Given the description of an element on the screen output the (x, y) to click on. 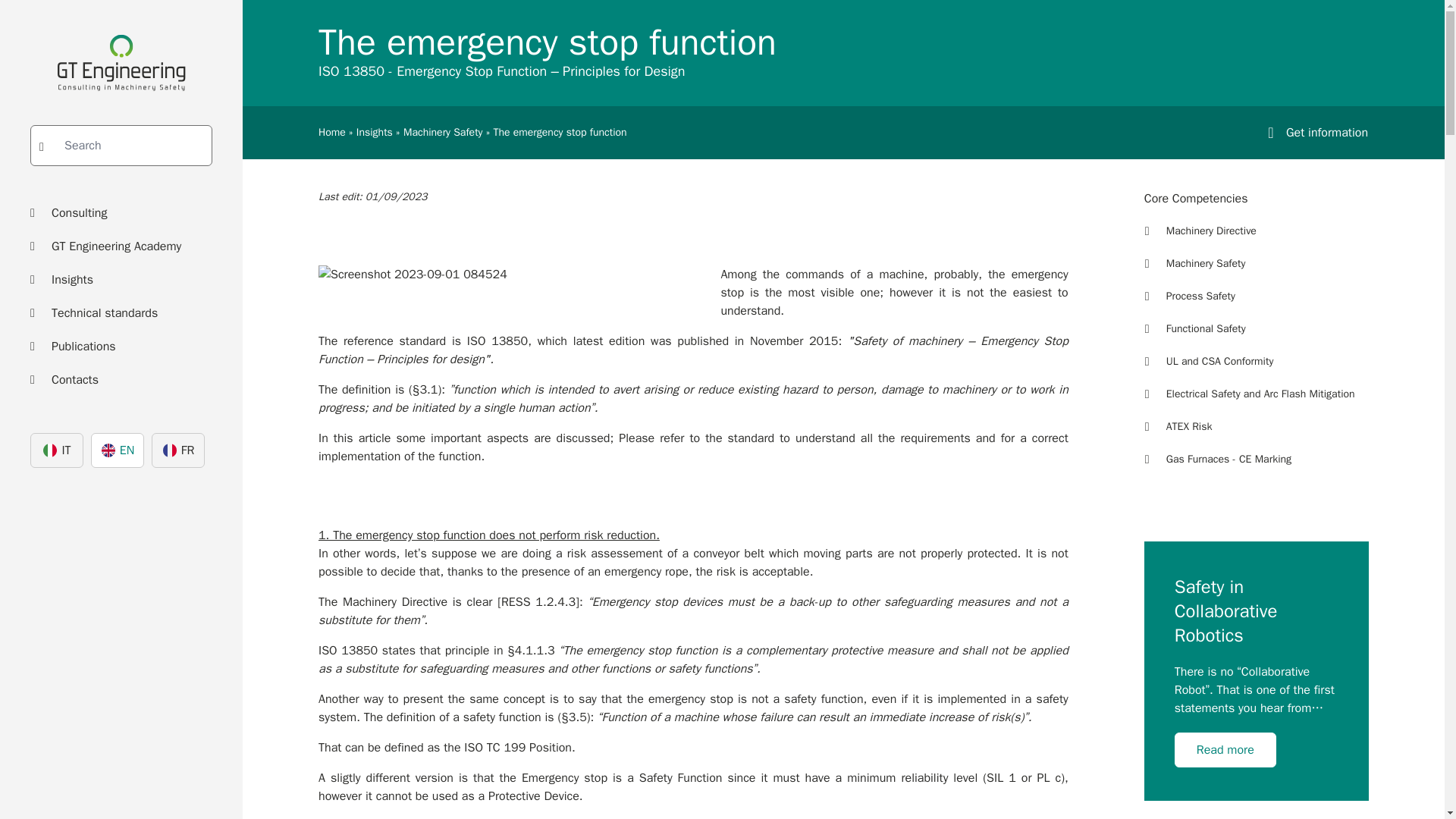
Gas Furnaces - CE Marking (1256, 459)
EN (117, 450)
Process Safety (1256, 296)
UL and CSA Conformity (1256, 361)
Contacts (121, 379)
IT (56, 450)
Insights (374, 132)
Insights (121, 279)
Technical standards (121, 313)
Home (332, 132)
Get information (1311, 132)
Machinery Safety (1256, 263)
Functional Safety (1256, 329)
Safety in Collaborative Robotics (1256, 610)
FR (178, 450)
